Given the description of an element on the screen output the (x, y) to click on. 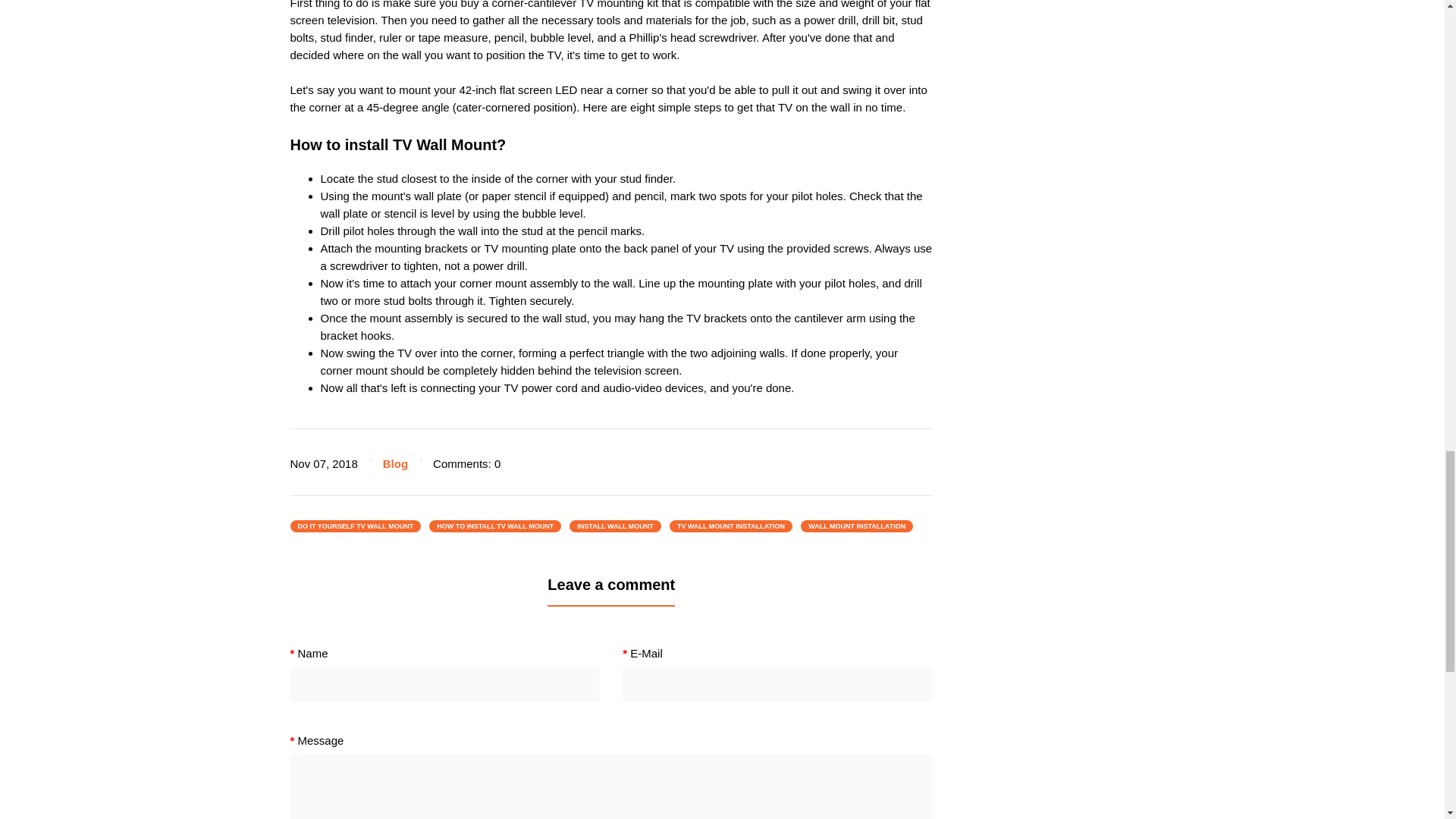
TV Wall Mount (444, 144)
Narrow search to articles also having tag install wall mount (615, 526)
